Given the description of an element on the screen output the (x, y) to click on. 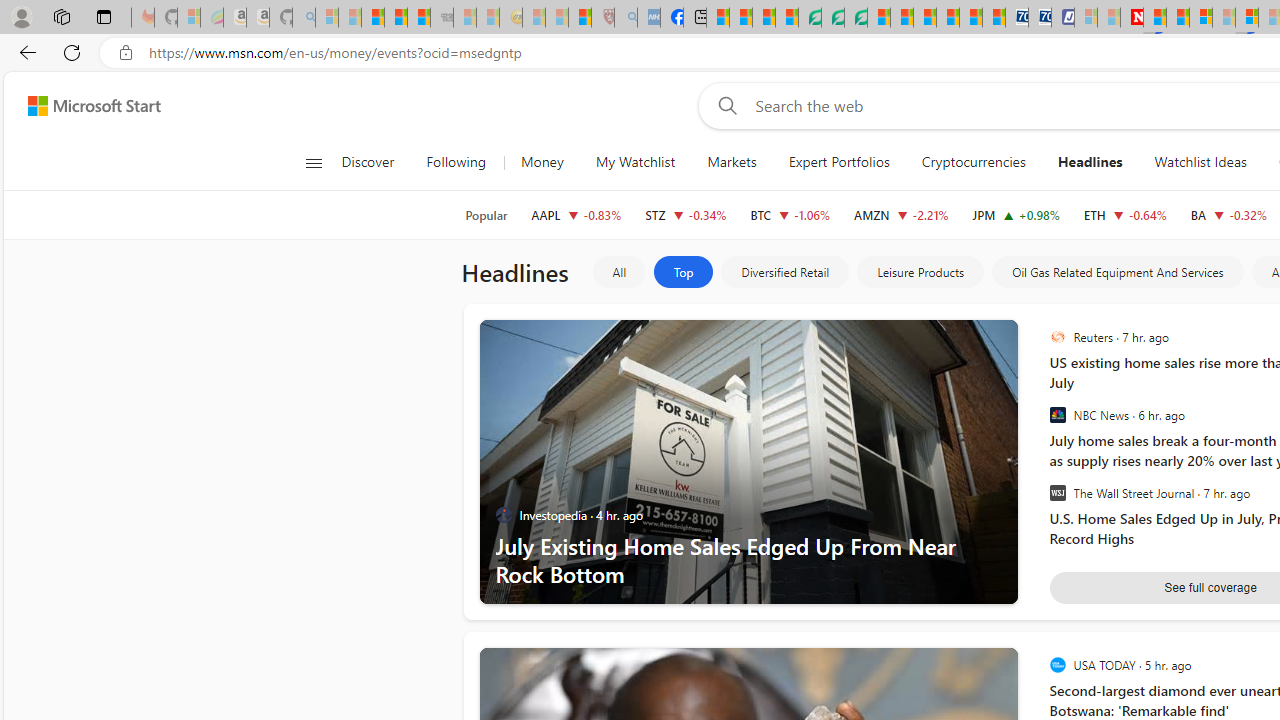
Investopedia 4 hr. ago (580, 515)
list of asthma inhalers uk - Search - Sleeping (625, 17)
BA THE BOEING COMPANY decrease 172.87 -0.56 -0.32% (1227, 214)
Headlines (1089, 162)
My Watchlist (635, 162)
ETH Ethereum decrease 2,624.30 -16.80 -0.64% (1124, 214)
Recipes - MSN - Sleeping (534, 17)
Top (684, 272)
JPM JPMORGAN CHASE & CO. increase 216.71 +2.11 +0.98% (1016, 214)
Microsoft account | Privacy - Sleeping (1085, 17)
MSNBC - MSN (717, 17)
